Given the description of an element on the screen output the (x, y) to click on. 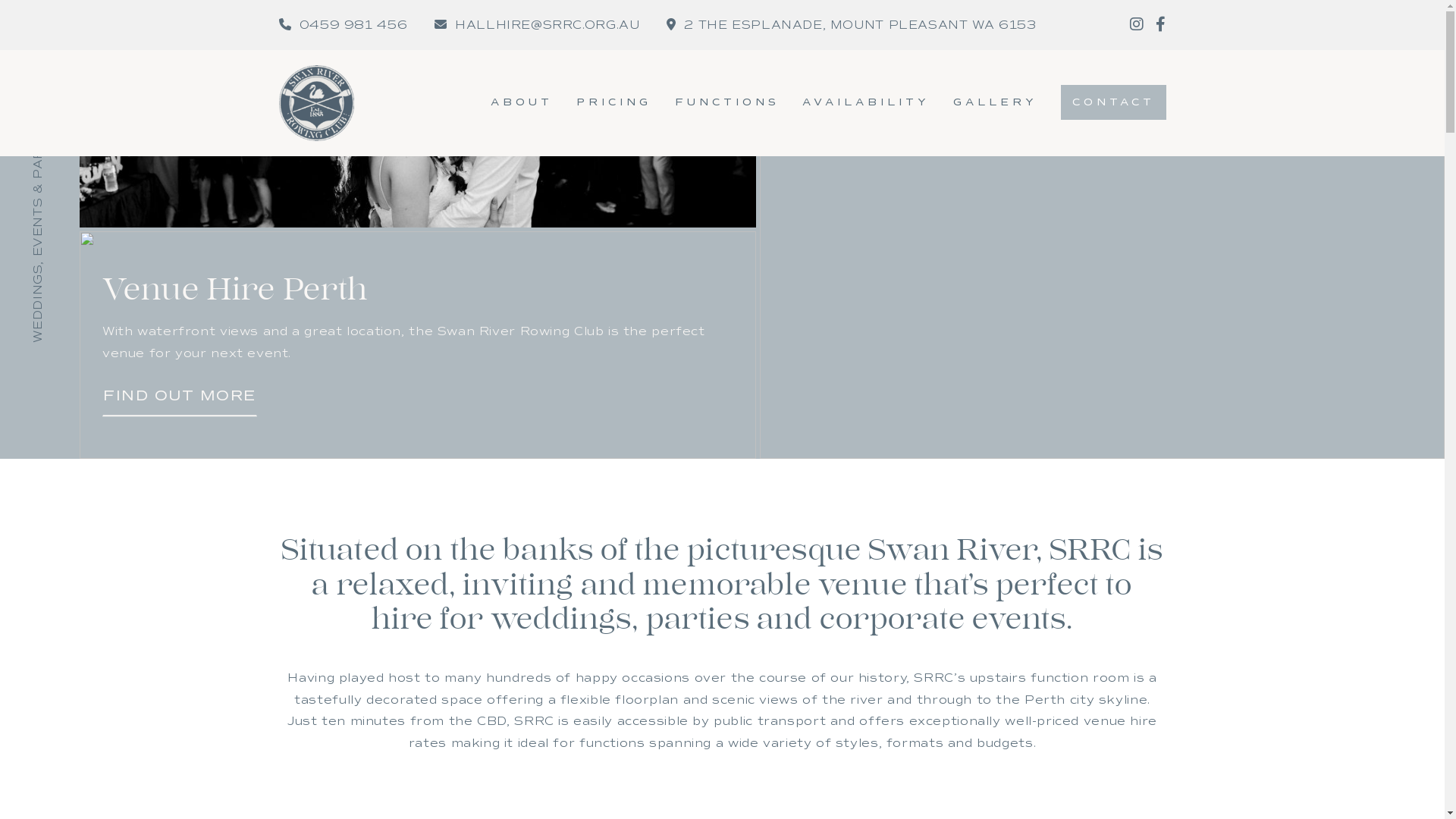
GALLERY Element type: text (995, 101)
2 THE ESPLANADE, MOUNT PLEASANT WA 6153 Element type: text (850, 24)
CONTACT Element type: text (1113, 101)
HALLHIRE@SRRC.ORG.AU Element type: text (537, 24)
FUNCTIONS Element type: text (726, 101)
AVAILABILITY Element type: text (865, 101)
FIND OUT MORE Element type: text (179, 396)
PRICING Element type: text (613, 101)
ABOUT Element type: text (521, 101)
Skip to content Element type: text (0, 0)
0459 981 456 Element type: text (343, 24)
